Given the description of an element on the screen output the (x, y) to click on. 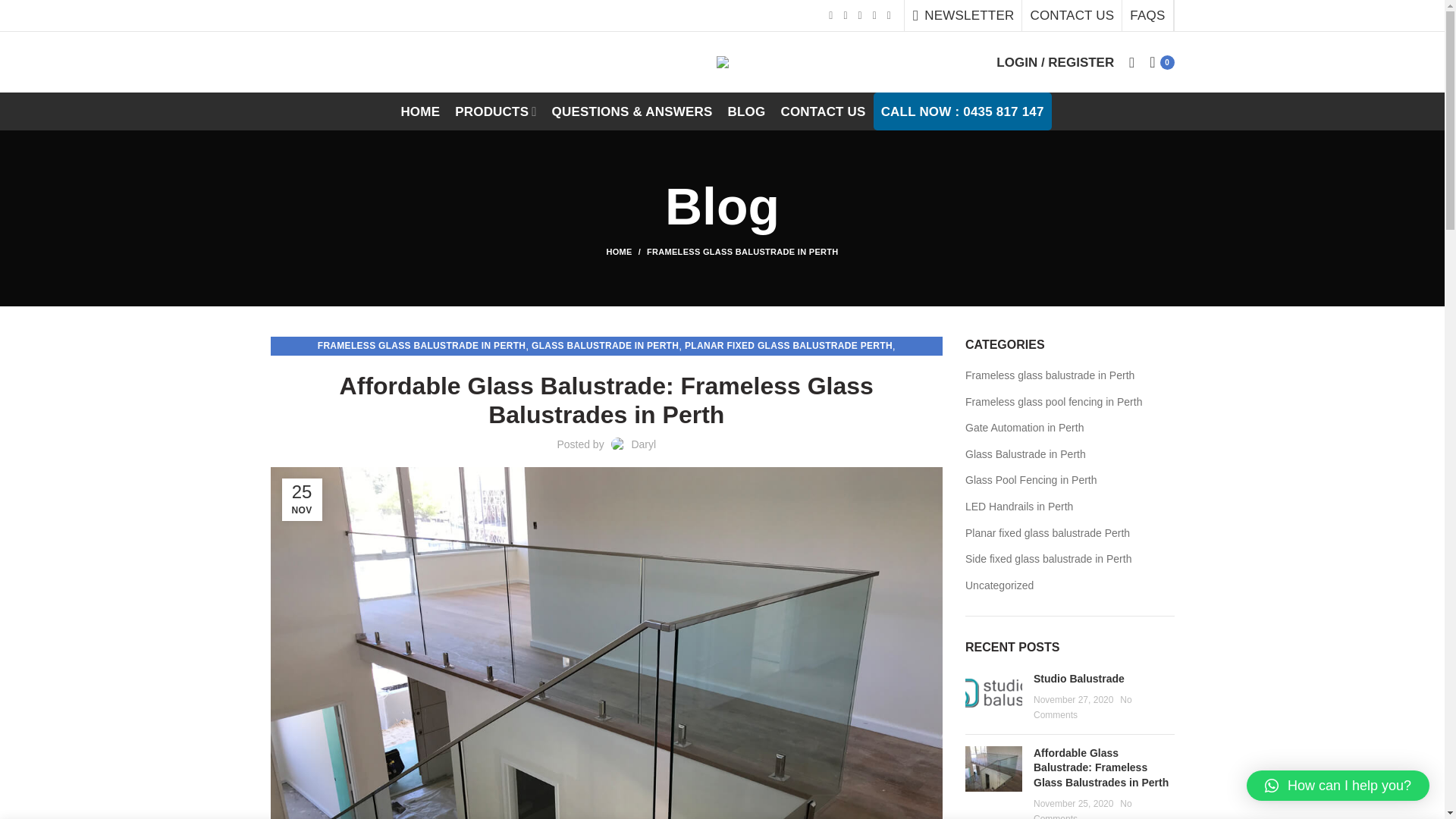
Pinterest (858, 15)
BLOG (746, 111)
Daryl (643, 444)
PRODUCTS (494, 111)
Telegram (889, 15)
Permalink to Studio Balustrade (1078, 678)
FRAMELESS GLASS BALUSTRADE IN PERTH (742, 251)
CONTACT US (822, 111)
NEWSLETTER (963, 15)
FAQS (1147, 15)
Facebook (831, 15)
My account (1054, 61)
PLANAR FIXED GLASS BALUSTRADE PERTH (788, 345)
CALL NOW : 0435 817 147 (962, 111)
0 (1160, 61)
